Given the description of an element on the screen output the (x, y) to click on. 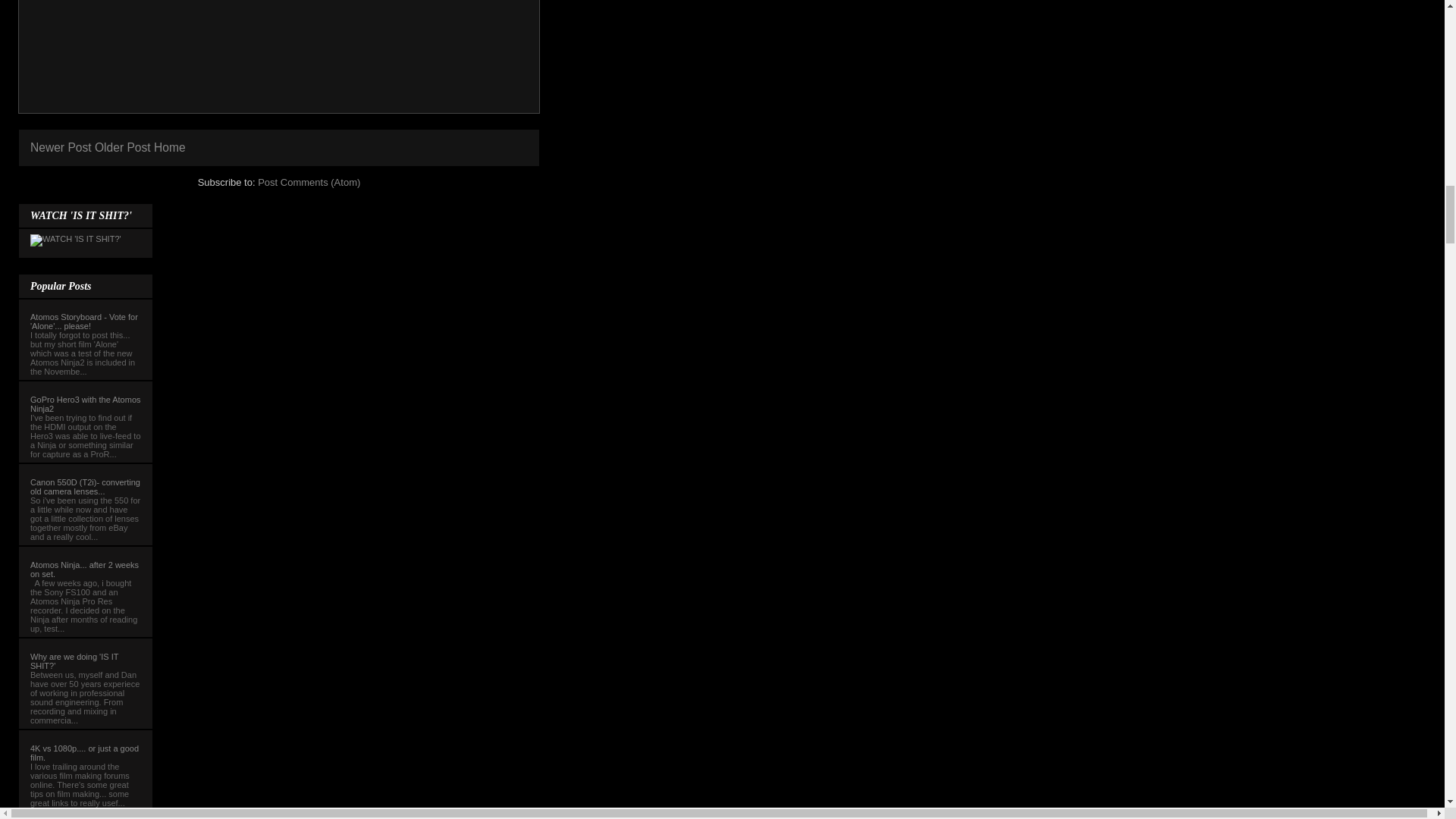
Newer Post (60, 146)
Older Post (122, 146)
Atomos Storyboard - Vote for 'Alone'... please! (84, 321)
Older Post (122, 146)
GoPro Hero3 with the Atomos Ninja2 (85, 403)
Newer Post (60, 146)
Home (170, 146)
